Given the description of an element on the screen output the (x, y) to click on. 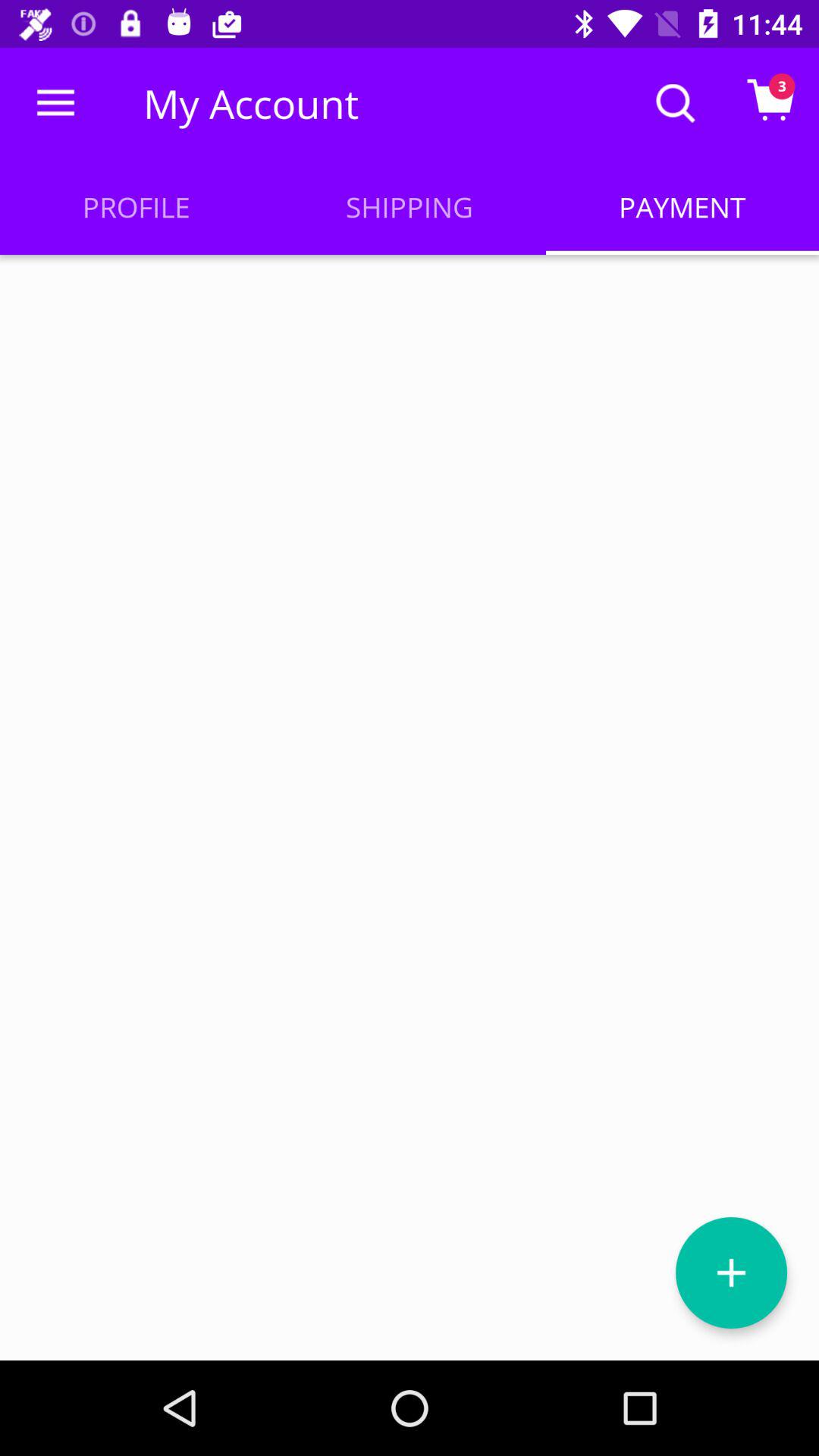
add payment option (731, 1272)
